Given the description of an element on the screen output the (x, y) to click on. 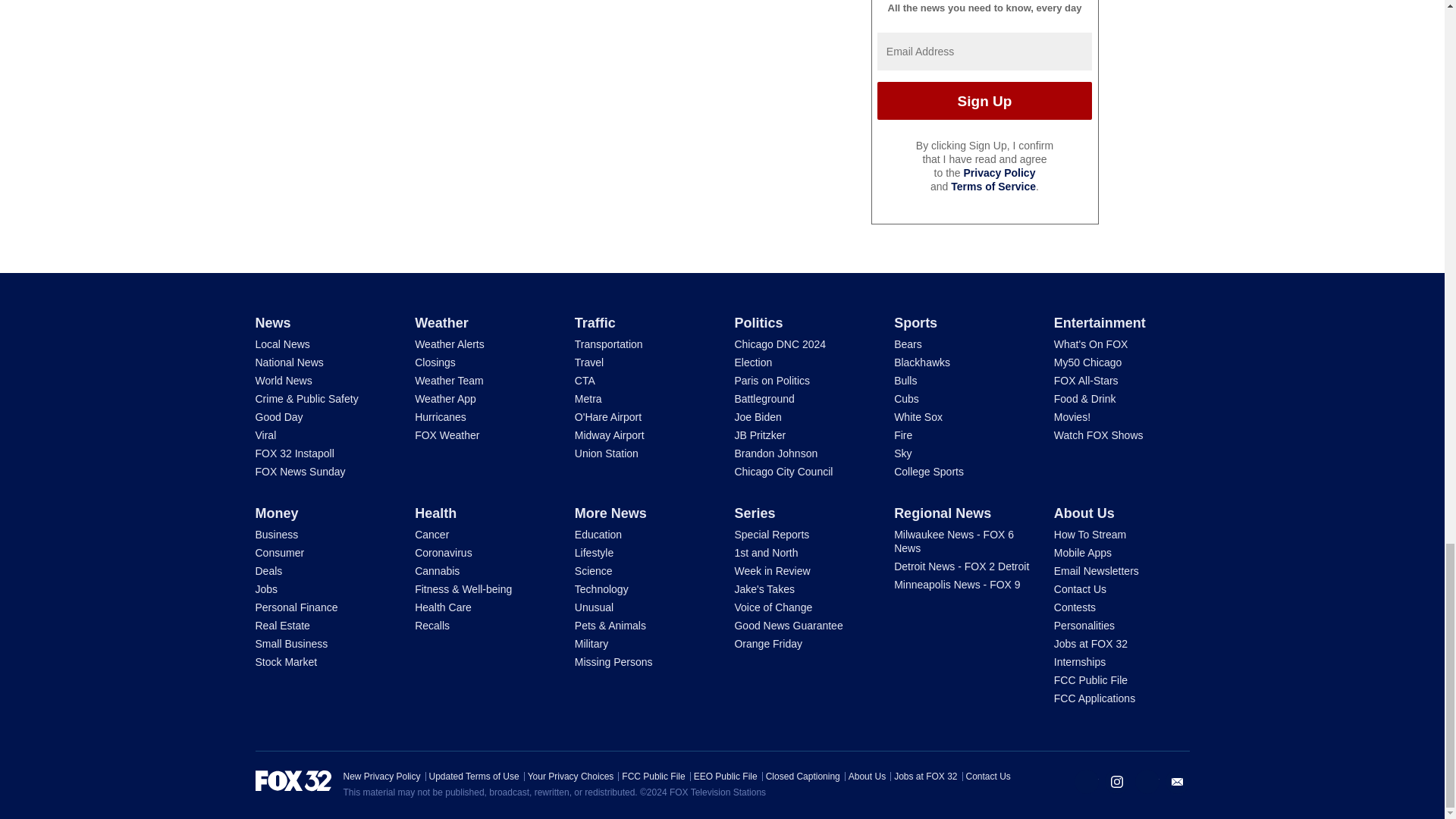
Sign Up (984, 100)
